Given the description of an element on the screen output the (x, y) to click on. 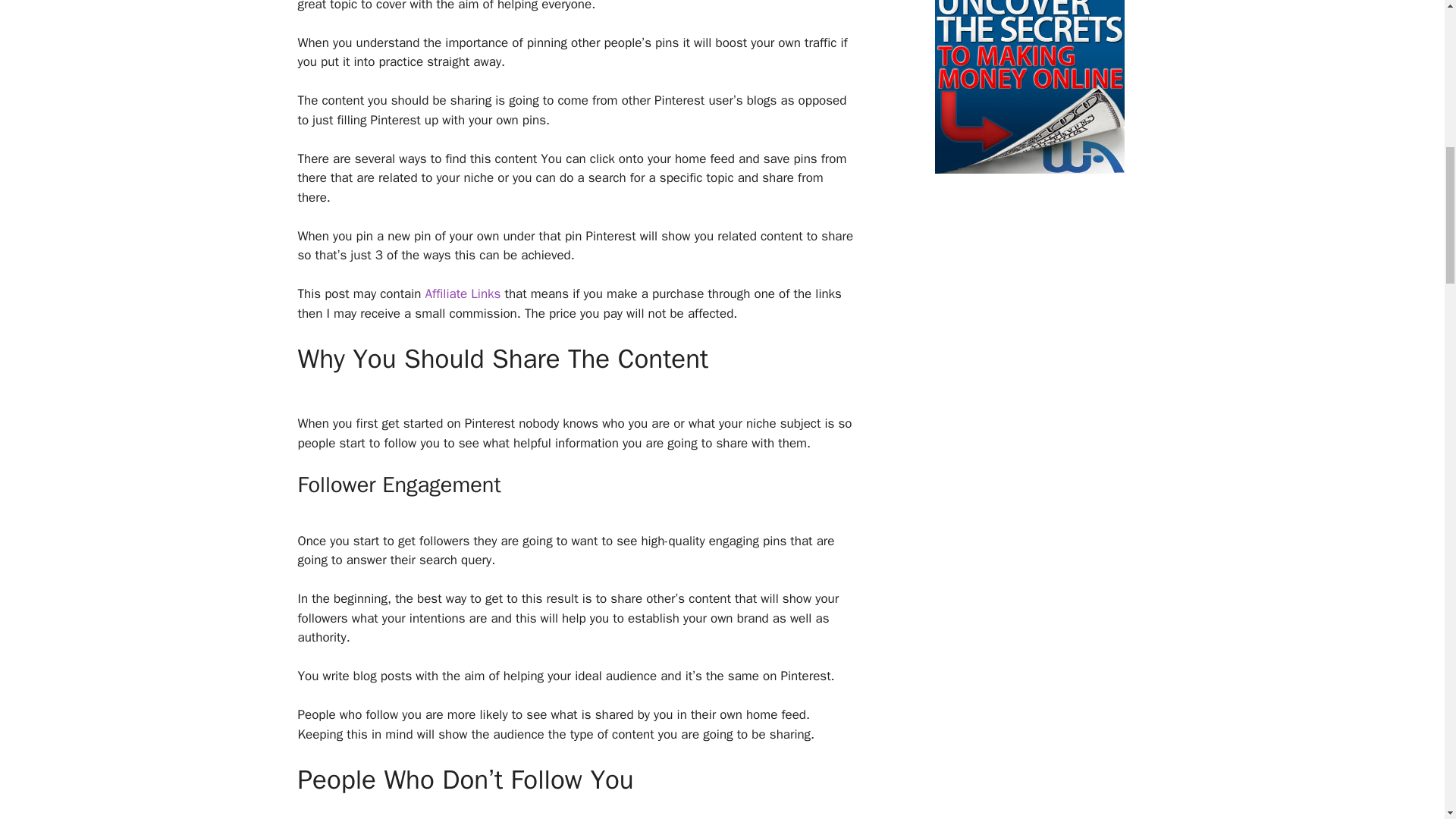
Scroll back to top (1406, 720)
Affiliate Links (462, 293)
